Given the description of an element on the screen output the (x, y) to click on. 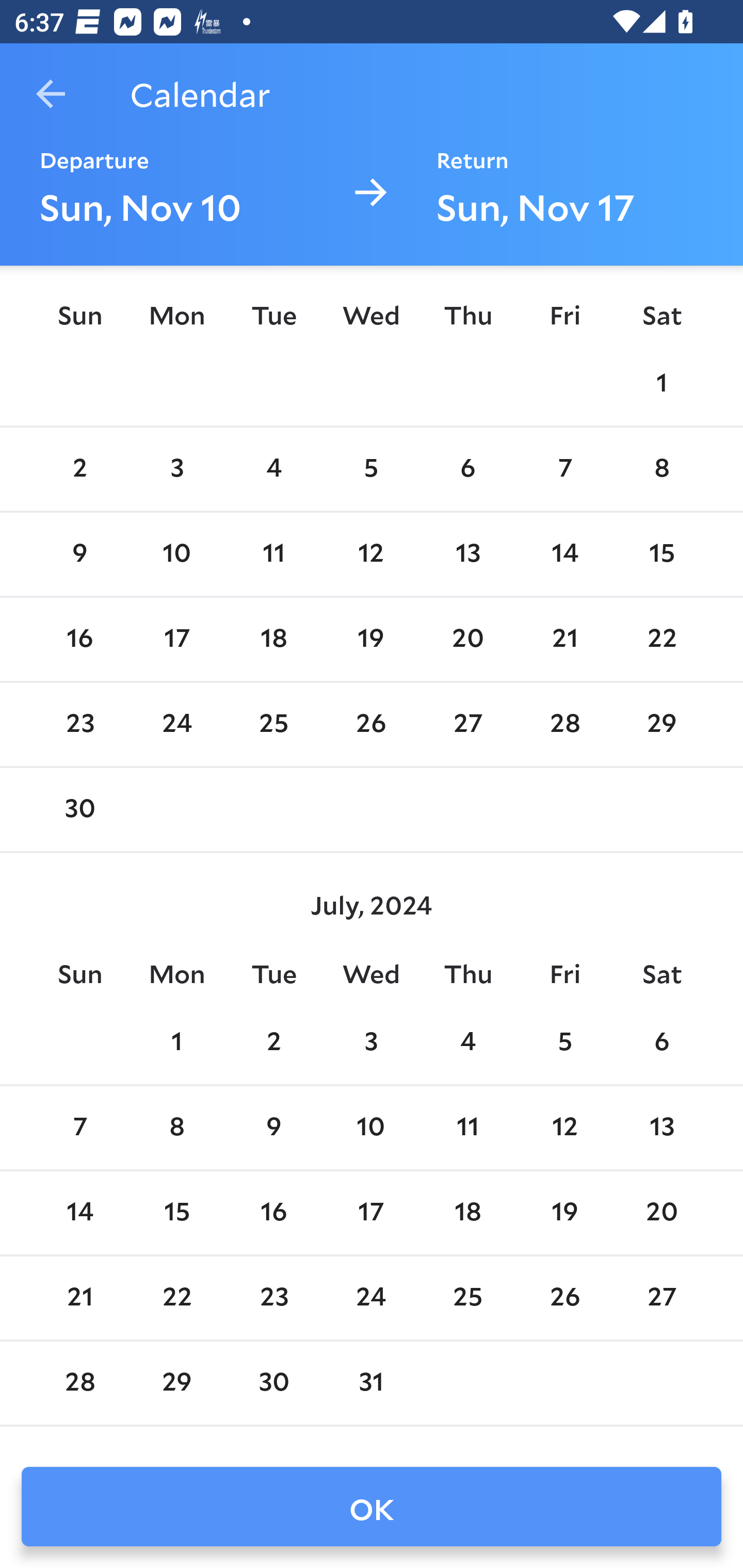
Navigate up (50, 93)
1 (661, 384)
2 (79, 468)
3 (177, 468)
4 (273, 468)
5 (371, 468)
6 (467, 468)
7 (565, 468)
8 (661, 468)
9 (79, 555)
10 (177, 555)
11 (273, 555)
12 (371, 555)
13 (467, 555)
14 (565, 555)
15 (661, 555)
16 (79, 639)
17 (177, 639)
18 (273, 639)
19 (371, 639)
20 (467, 639)
21 (565, 639)
22 (661, 639)
23 (79, 724)
24 (177, 724)
25 (273, 724)
26 (371, 724)
27 (467, 724)
28 (565, 724)
29 (661, 724)
30 (79, 809)
1 (177, 1042)
2 (273, 1042)
3 (371, 1042)
4 (467, 1042)
5 (565, 1042)
6 (661, 1042)
7 (79, 1127)
8 (177, 1127)
9 (273, 1127)
10 (371, 1127)
11 (467, 1127)
12 (565, 1127)
13 (661, 1127)
14 (79, 1213)
15 (177, 1213)
16 (273, 1213)
17 (371, 1213)
18 (467, 1213)
19 (565, 1213)
